Given the description of an element on the screen output the (x, y) to click on. 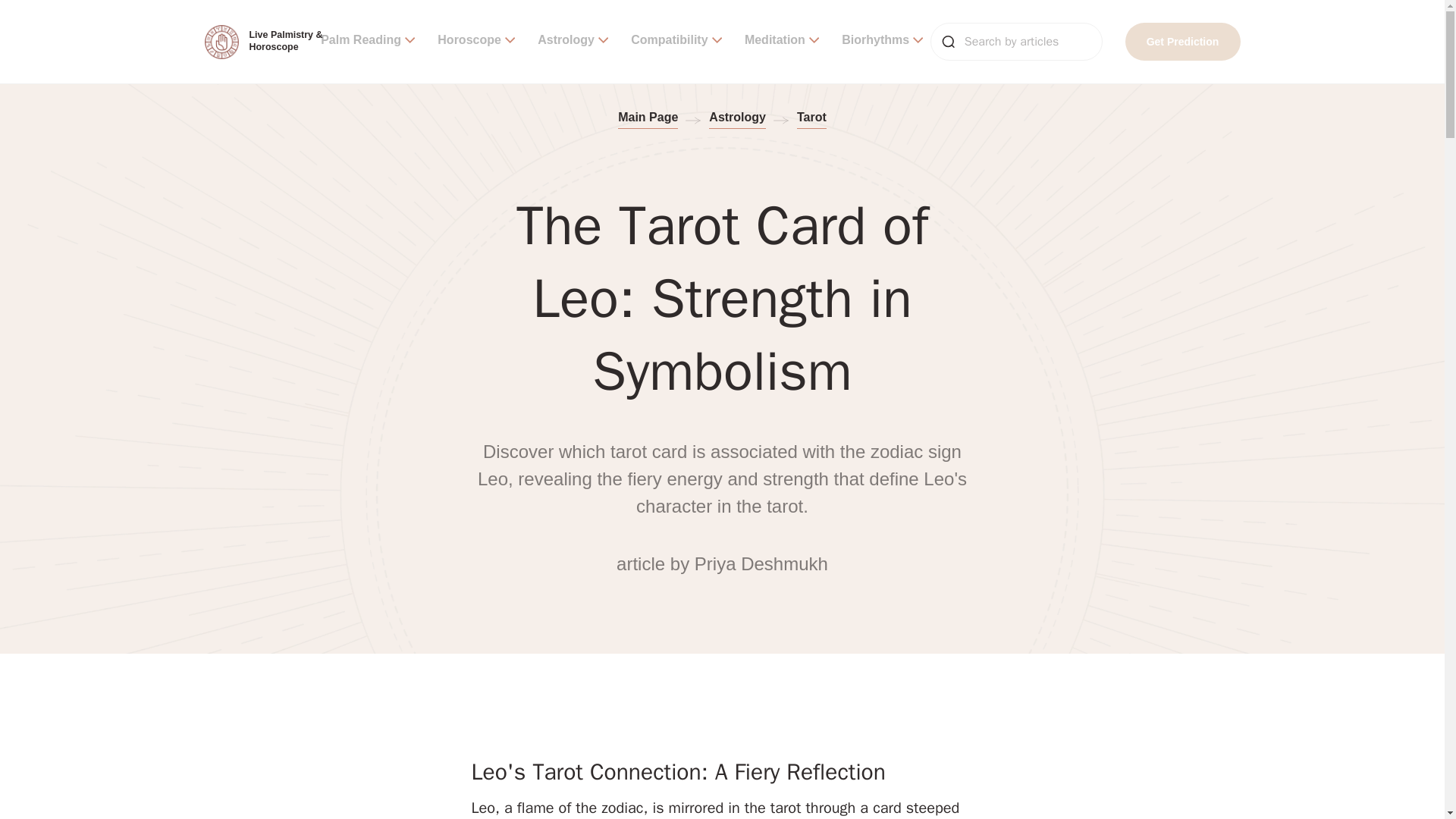
Palm Reading (367, 41)
Horoscope (476, 41)
Compatibility (676, 41)
Get Prediction (1182, 41)
Astrology (572, 41)
Biorhythms (882, 41)
Meditation (781, 41)
